Given the description of an element on the screen output the (x, y) to click on. 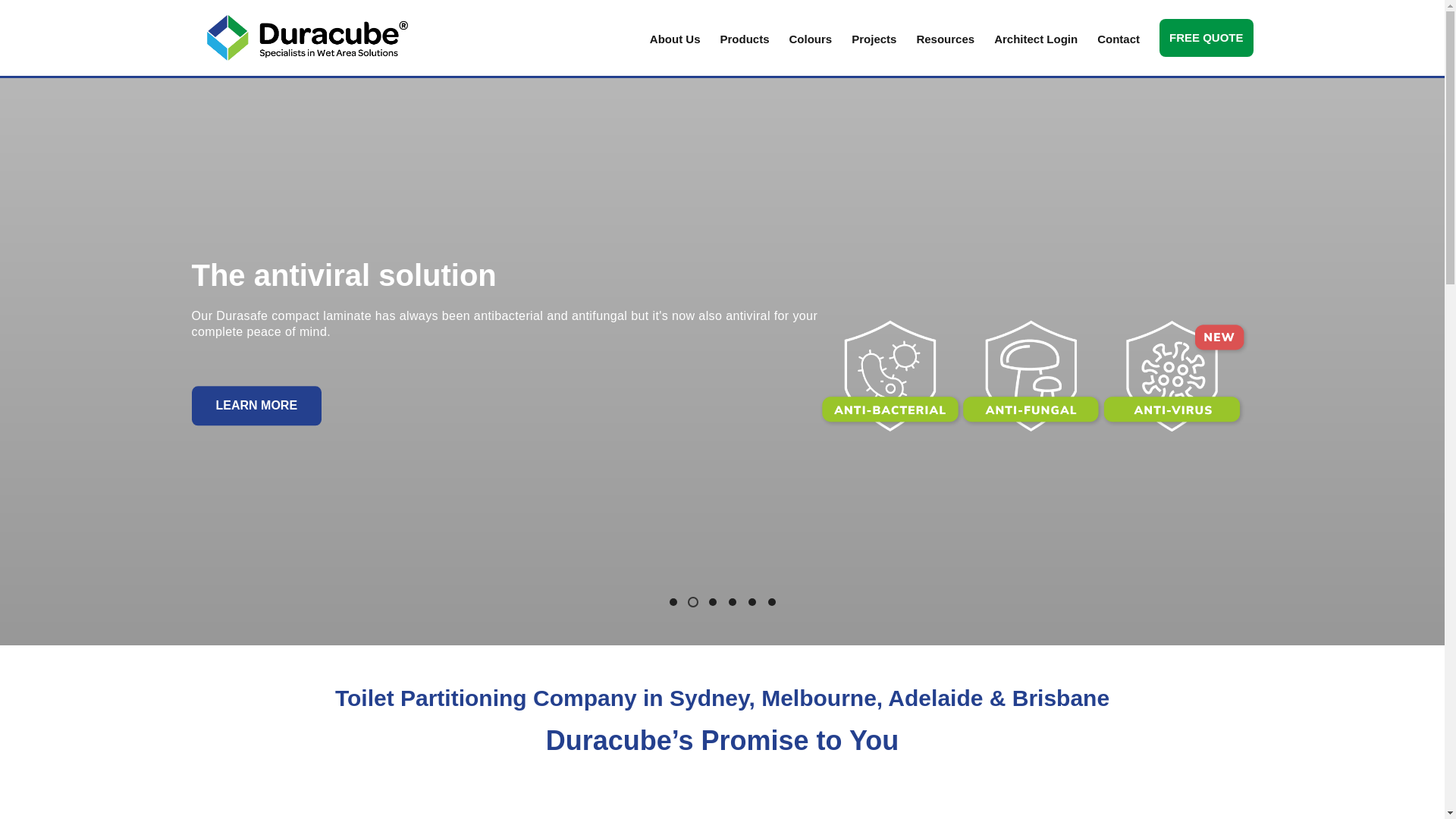
FREE QUOTE Element type: text (1206, 37)
Architect Login Element type: text (1035, 37)
Resources Element type: text (945, 37)
About Us Element type: text (675, 37)
SEE MORE Element type: text (247, 405)
Colours Element type: text (810, 37)
Products Element type: text (744, 37)
Contact Element type: text (1118, 37)
Projects Element type: text (873, 37)
